Given the description of an element on the screen output the (x, y) to click on. 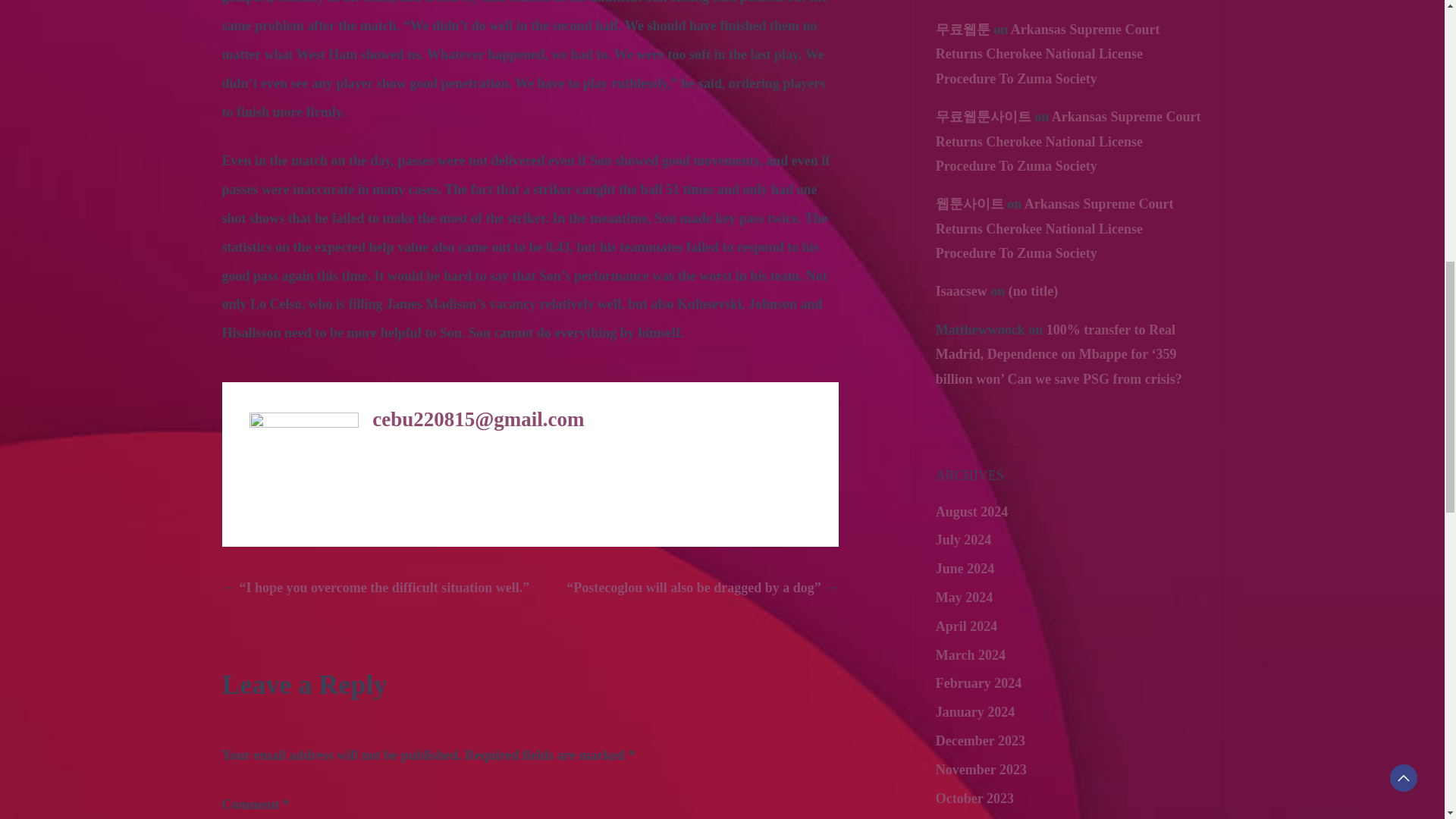
August 2024 (972, 511)
Isaacsew (961, 290)
July 2024 (963, 539)
